Given the description of an element on the screen output the (x, y) to click on. 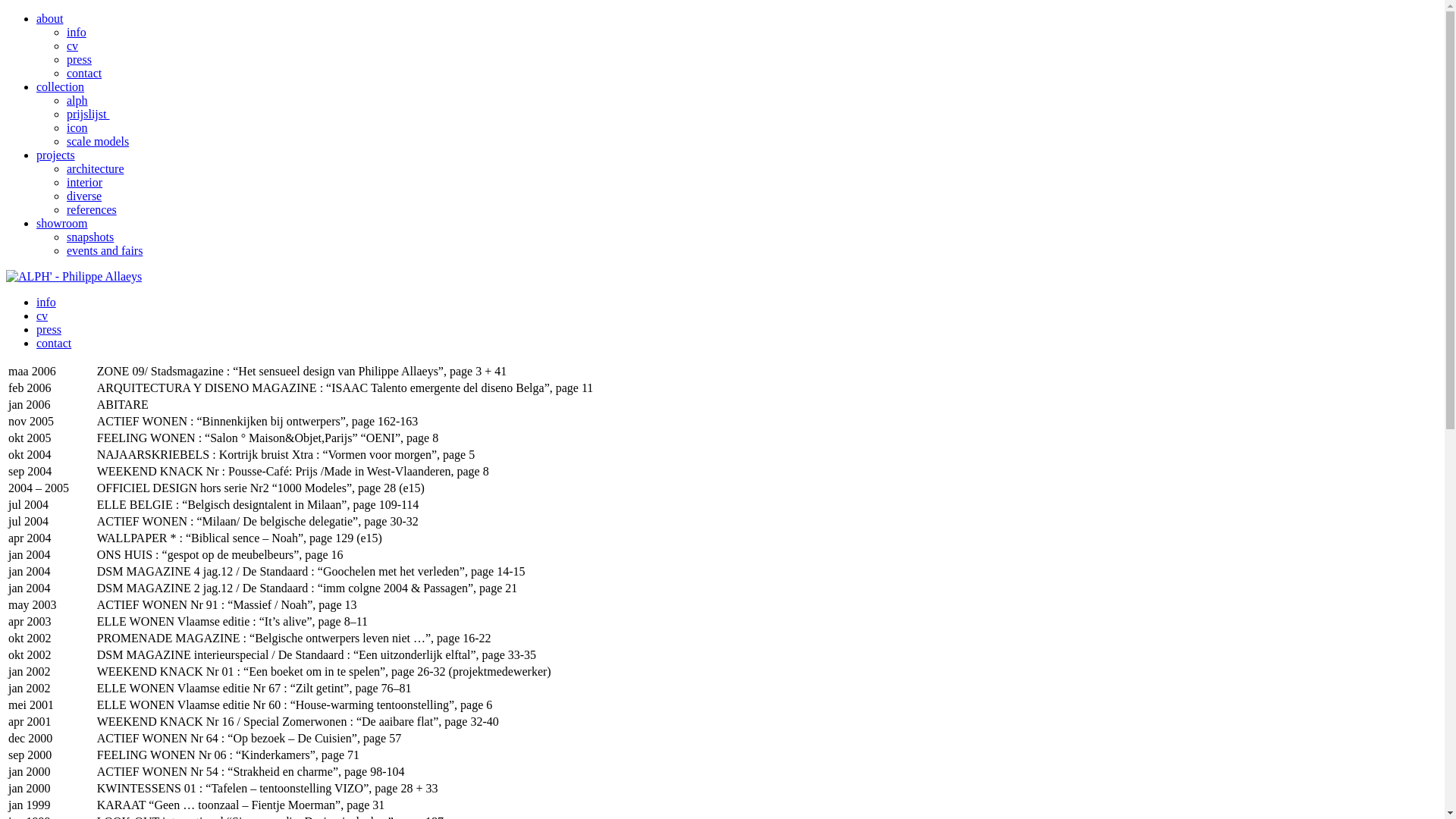
icon Element type: text (76, 127)
showroom Element type: text (61, 222)
alph Element type: text (76, 100)
interior Element type: text (84, 181)
prijslijst  Element type: text (87, 113)
architecture Element type: text (95, 168)
scale models Element type: text (97, 140)
cv Element type: text (41, 315)
events and fairs Element type: text (104, 250)
contact Element type: text (53, 342)
snapshots Element type: text (89, 236)
collection Element type: text (60, 86)
references Element type: text (91, 209)
about Element type: text (49, 18)
info Element type: text (76, 31)
contact Element type: text (83, 72)
info Element type: text (46, 301)
press Element type: text (78, 59)
cv Element type: text (72, 45)
projects Element type: text (55, 154)
press Element type: text (48, 329)
diverse Element type: text (83, 195)
